Given the description of an element on the screen output the (x, y) to click on. 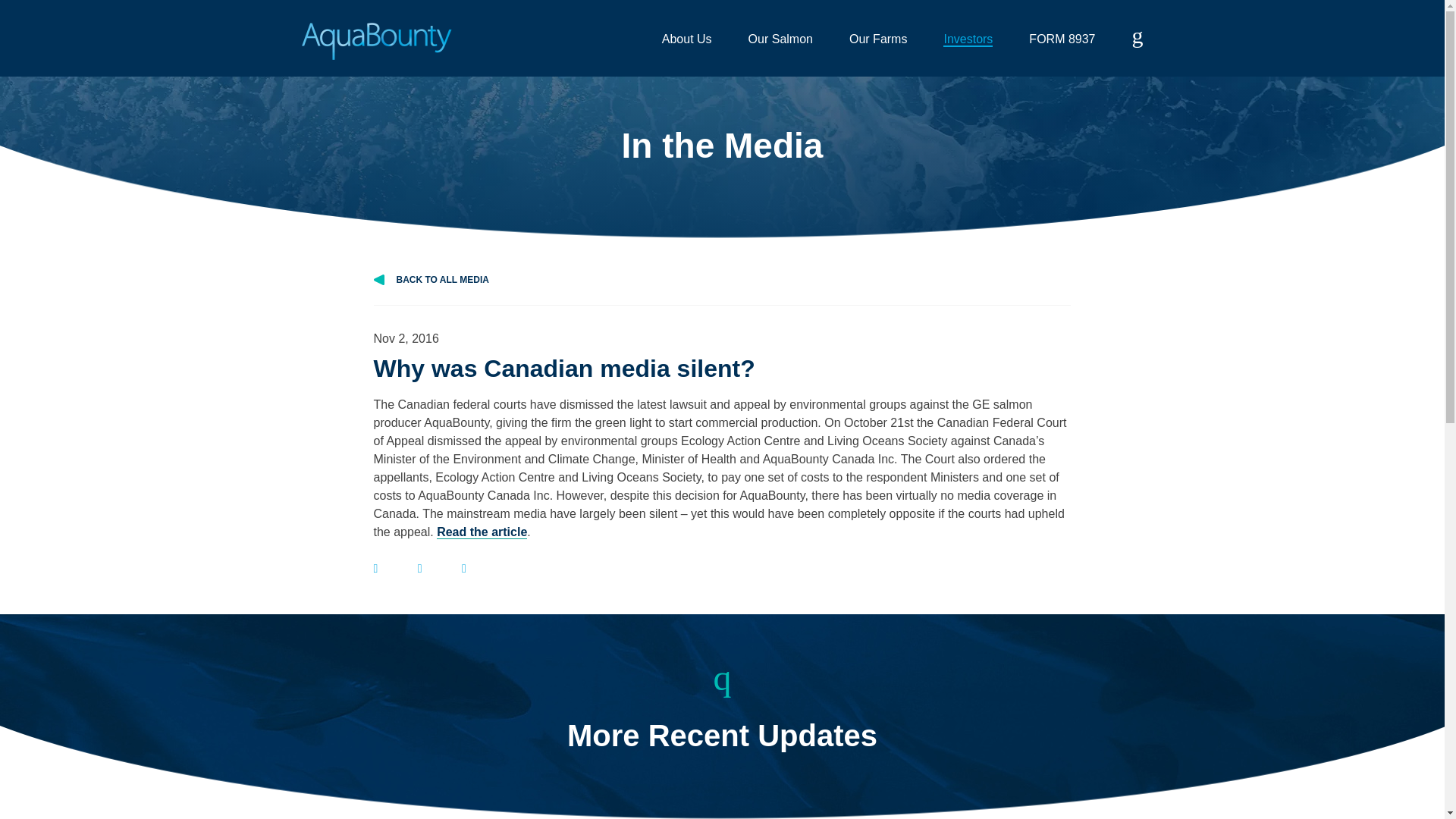
About Us (686, 38)
FORM 8937 (1061, 38)
Our Farms (877, 38)
BACK TO ALL MEDIA (721, 288)
Our Salmon (780, 38)
Read the article (481, 531)
Investors (967, 39)
